Given the description of an element on the screen output the (x, y) to click on. 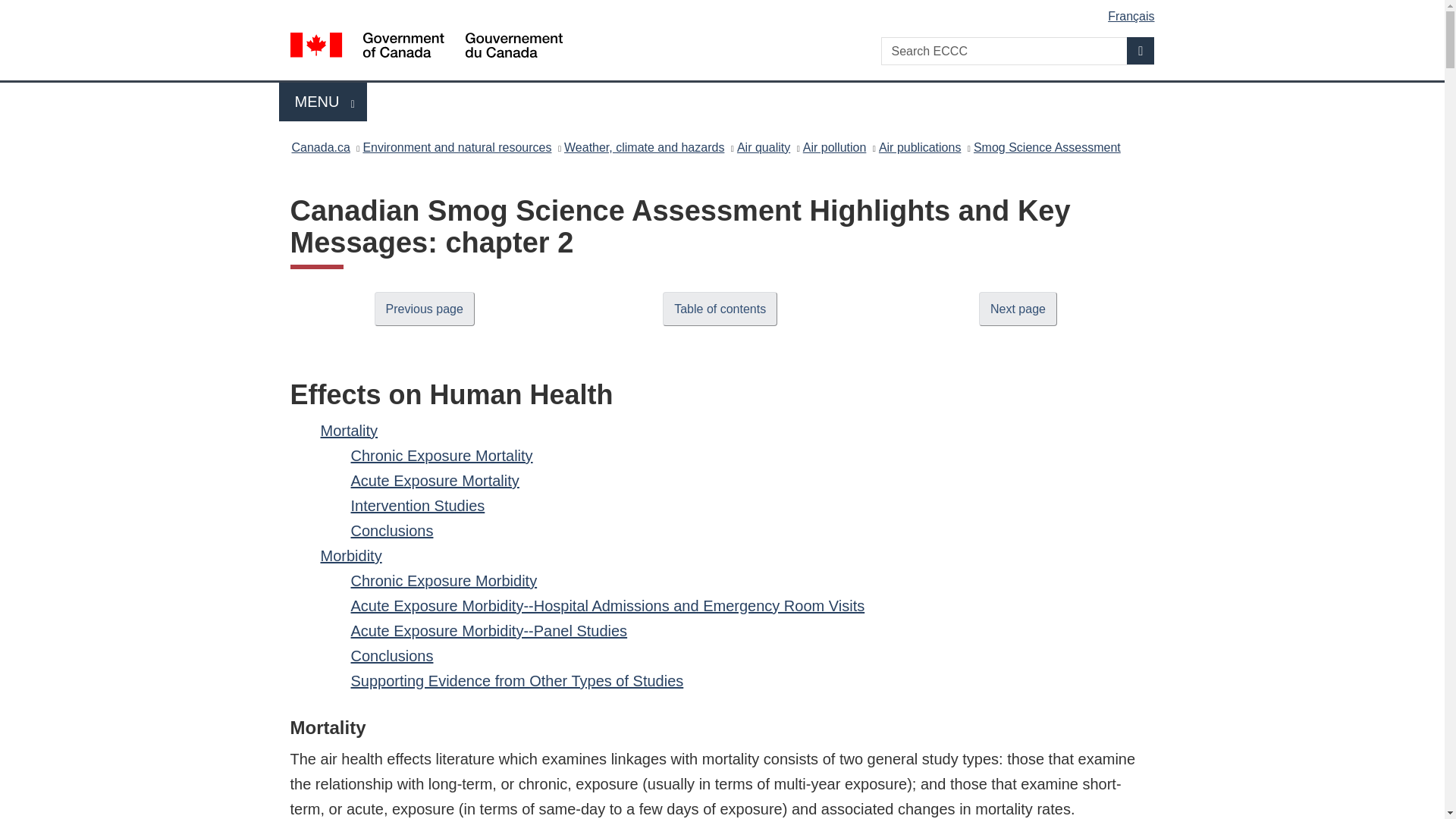
Previous section of booklet (424, 308)
Chronic Exposure Morbidity (443, 580)
Air publications (919, 147)
Search (1140, 50)
Morbidity (350, 555)
Weather, climate and hazards (643, 147)
Air pollution (834, 147)
Supporting  Evidence from Other Types of Studies (516, 680)
Morbidity (350, 555)
Chronic Exposure Morbidity (443, 580)
Skip to main content (725, 11)
Conclusions (391, 655)
Acute Exposure Mortality (434, 480)
Canada.ca (320, 147)
